Given the description of an element on the screen output the (x, y) to click on. 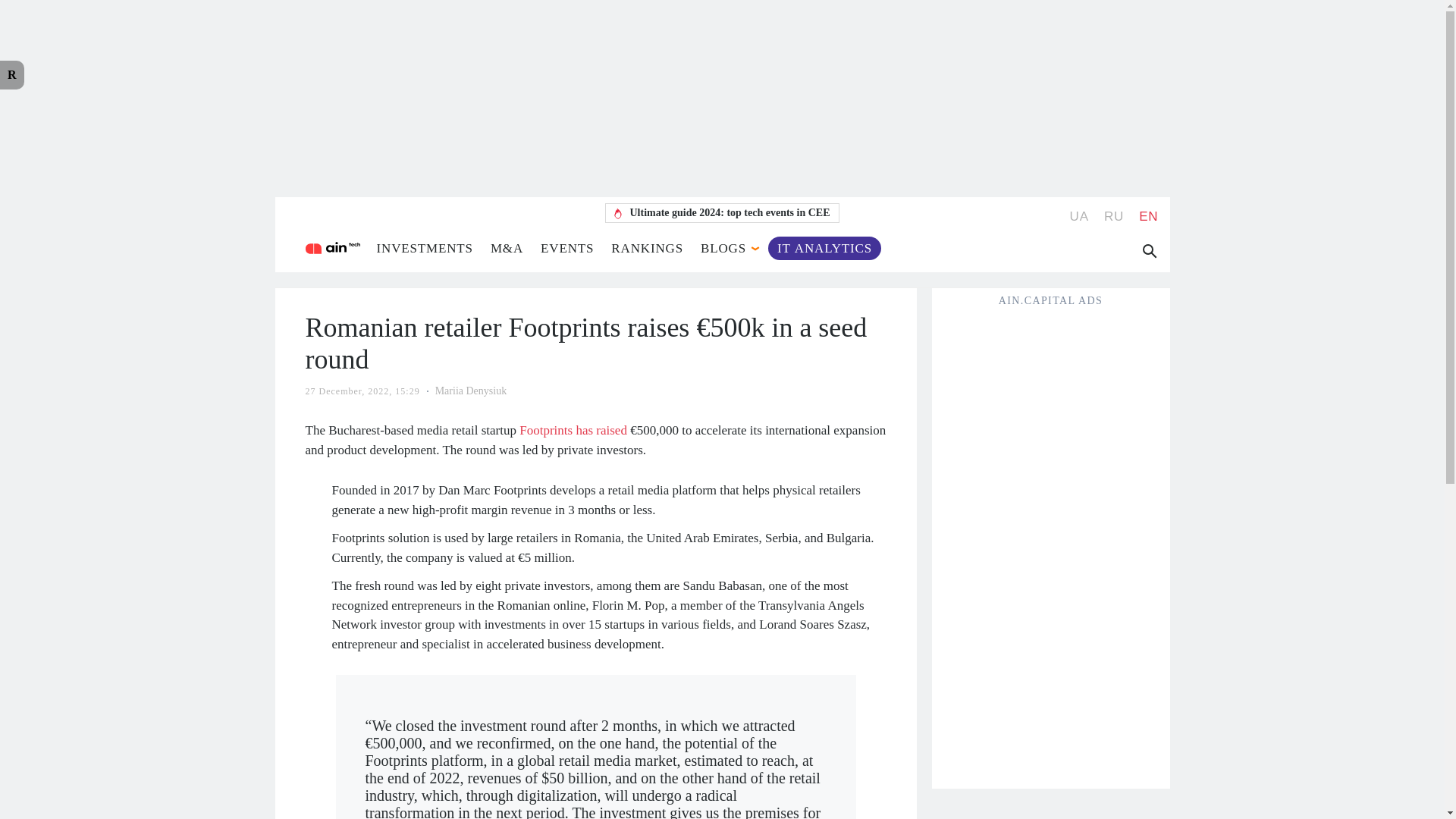
RANKINGS (646, 247)
EN (1147, 216)
BLOGS (722, 247)
INVESTMENTS (423, 247)
RU (1113, 216)
UA (1079, 216)
EVENTS (567, 247)
Ultimate guide 2024: top tech events in CEE (721, 212)
